Given the description of an element on the screen output the (x, y) to click on. 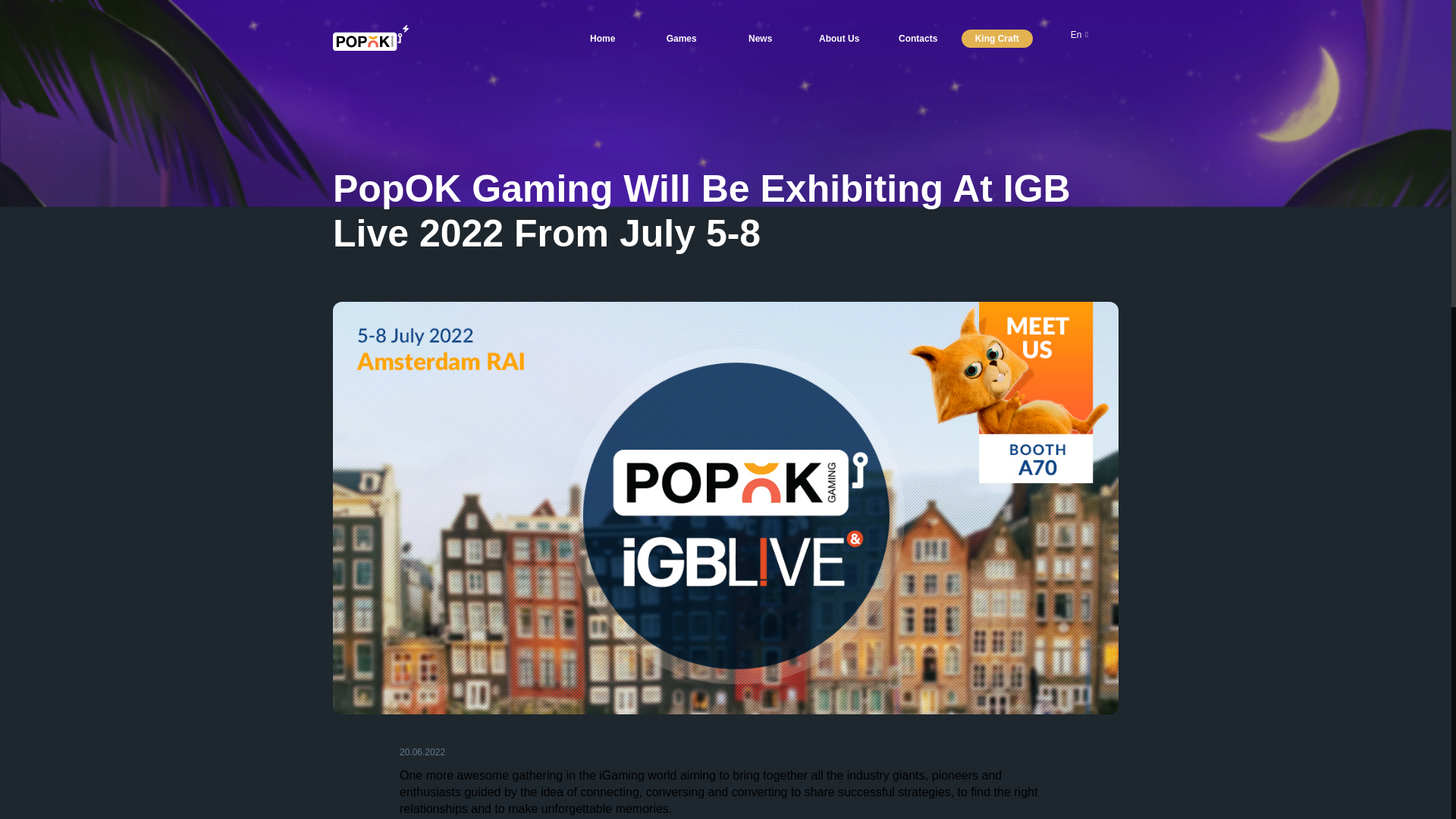
Contacts (917, 38)
About Us (839, 38)
Home (603, 38)
Games (681, 38)
King Craft (996, 38)
News (760, 38)
